Given the description of an element on the screen output the (x, y) to click on. 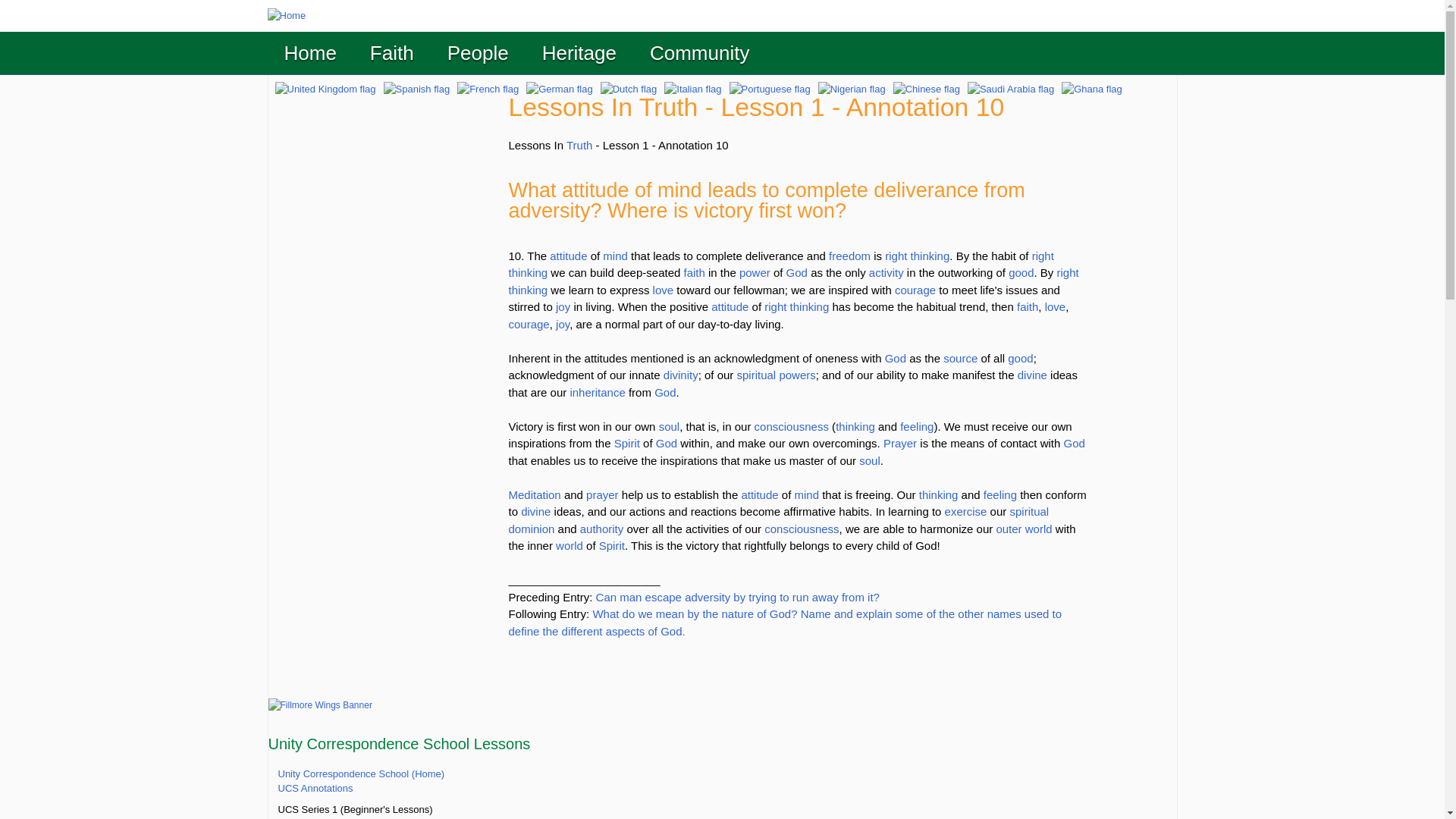
Italy (691, 88)
Spanish (416, 88)
People (477, 52)
Home (310, 52)
Netherlands (628, 88)
Ghana (1091, 88)
Arabic (1011, 88)
Brazil (769, 88)
China (926, 88)
